Given the description of an element on the screen output the (x, y) to click on. 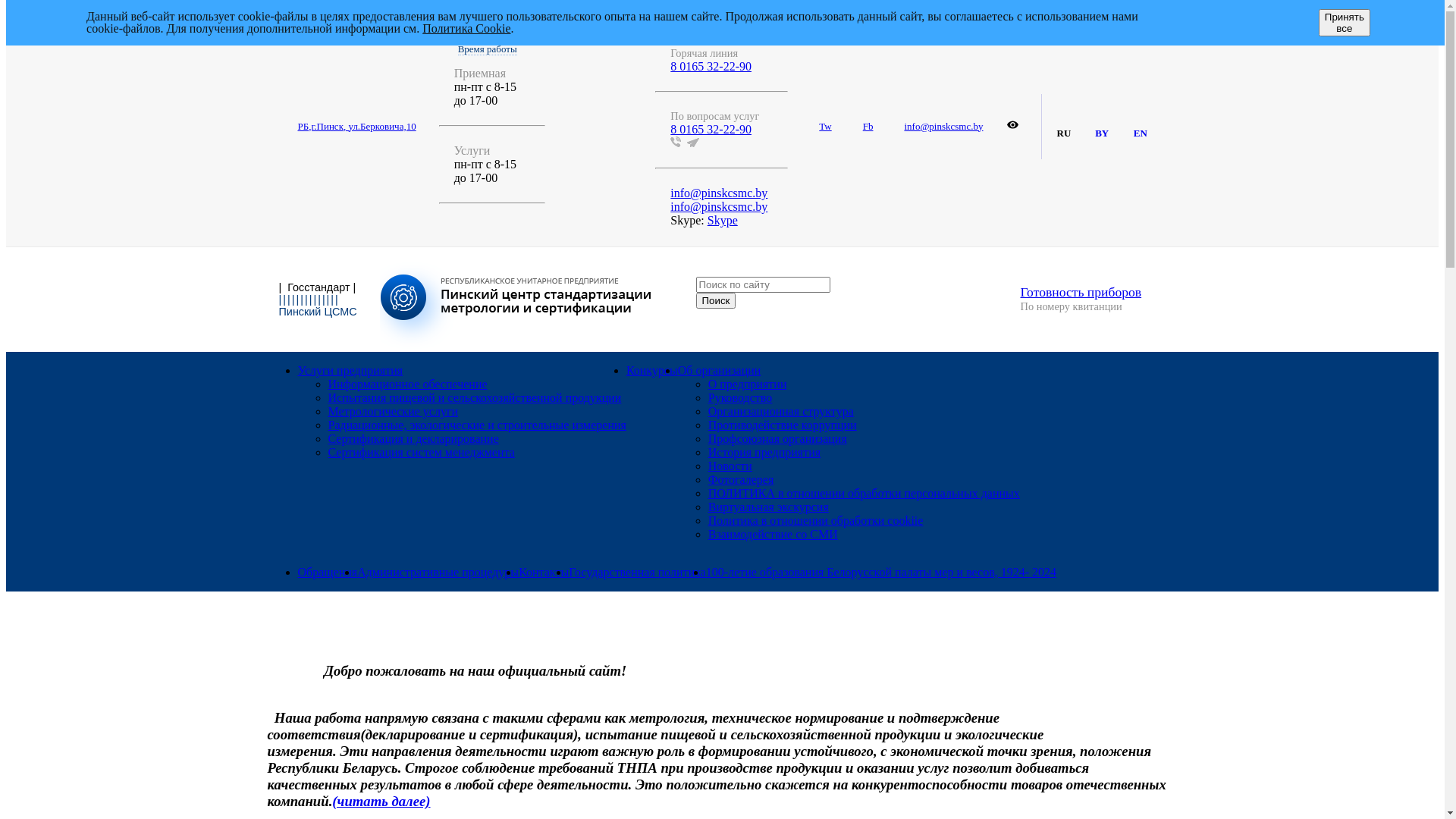
RU Element type: text (1073, 127)
8 0165 32-22-90 Element type: text (710, 65)
Fb Element type: text (867, 125)
BY Element type: text (1111, 127)
info@pinskcsmc.by Element type: text (718, 192)
Skype Element type: text (722, 219)
info@pinskcsmc.by Element type: text (942, 125)
info@pinskcsmc.by Element type: text (718, 206)
8 0165 32-22-90 Element type: text (707, 28)
Tw Element type: text (825, 125)
8 0165 32-22-90 Element type: text (710, 128)
EN Element type: text (1149, 127)
